Given the description of an element on the screen output the (x, y) to click on. 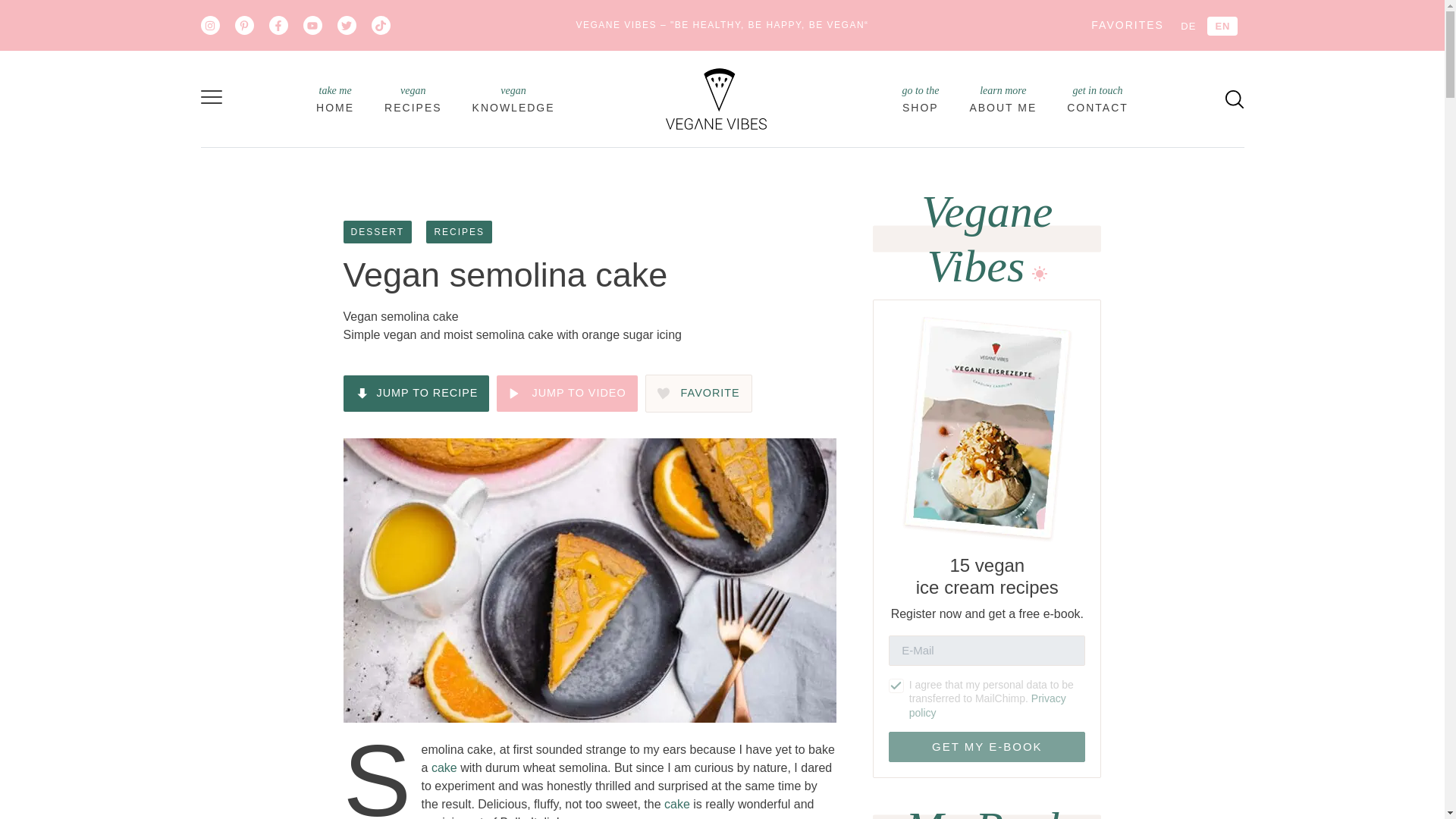
Home (334, 99)
1 (896, 685)
FAVORITES (1126, 24)
search (1234, 99)
search (1234, 97)
EN (1003, 99)
JUMP TO RECIPE (1222, 26)
DESSERT (415, 393)
Shop (376, 231)
